Given the description of an element on the screen output the (x, y) to click on. 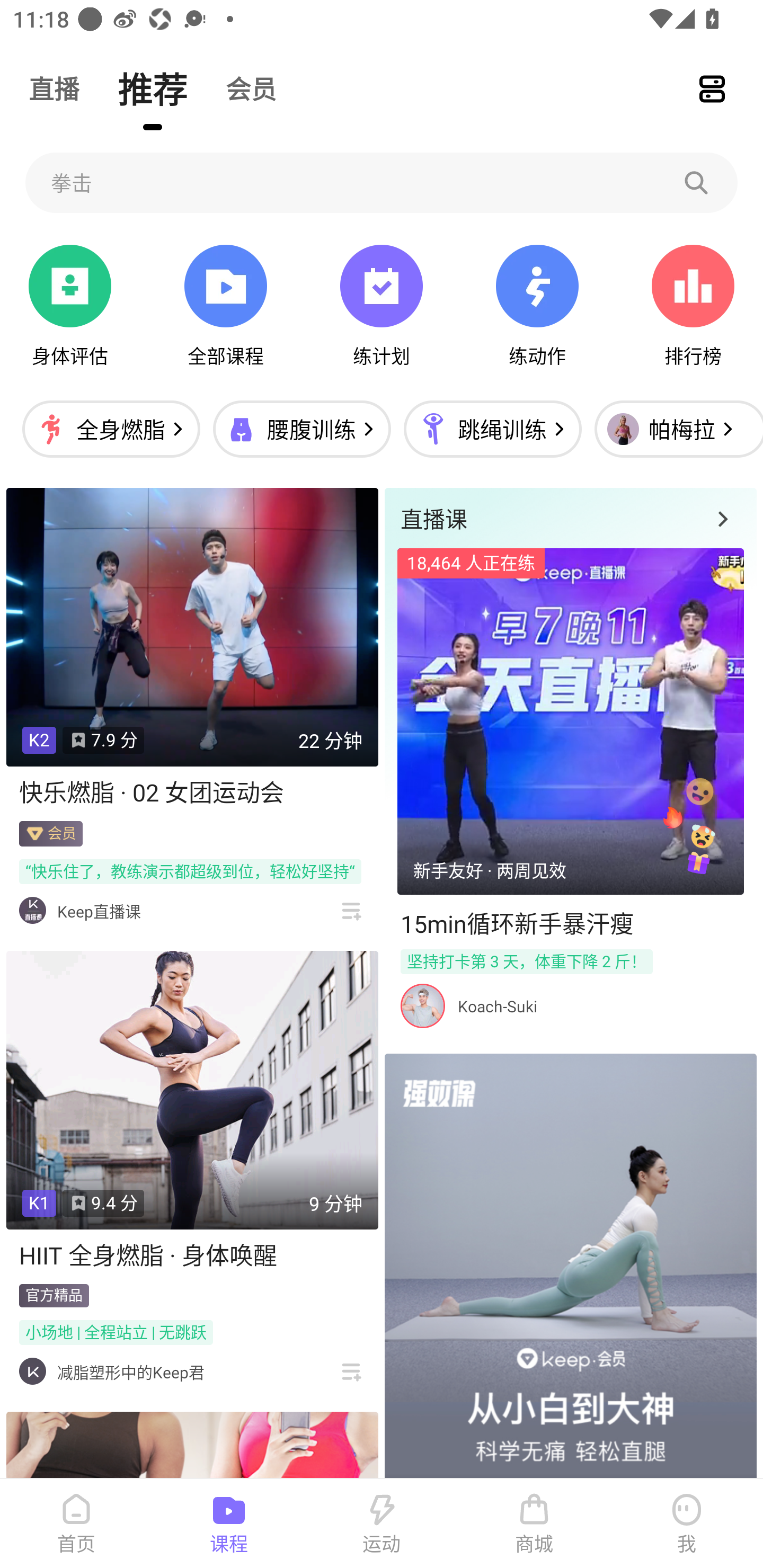
直播 (53, 88)
推荐 (152, 88)
会员 (251, 88)
拳击 (381, 182)
身体评估 (69, 306)
全部课程 (225, 306)
练计划 (381, 306)
练动作 (537, 306)
排行榜 (692, 306)
全身燃脂 更多 (110, 428)
腰腹训练 更多 (301, 428)
跳绳训练 更多 (492, 428)
帕梅拉 更多 (673, 428)
直播课 (570, 517)
Keep直播课 (99, 910)
Koach-Suki (497, 1006)
减脂塑形中的Keep君 (130, 1371)
首页 (76, 1523)
课程 (228, 1523)
运动 (381, 1523)
商城 (533, 1523)
我 (686, 1523)
